Given the description of an element on the screen output the (x, y) to click on. 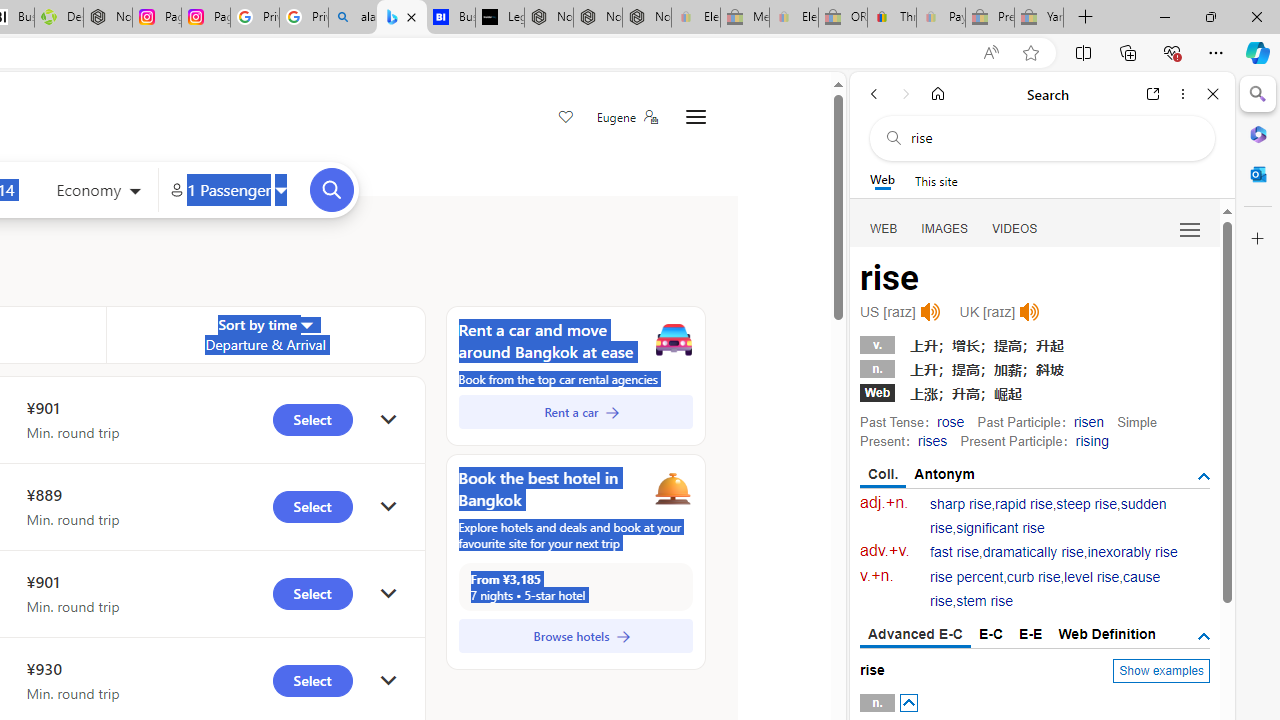
Search the web (1051, 137)
AutomationID: tgdef (1203, 636)
stem rise (984, 601)
Descarga Driver Updater (58, 17)
rising (1091, 440)
Coll. (883, 475)
WEB (884, 228)
level rise (1091, 577)
Forward (906, 93)
sharp rise (961, 503)
rises (932, 440)
